Given the description of an element on the screen output the (x, y) to click on. 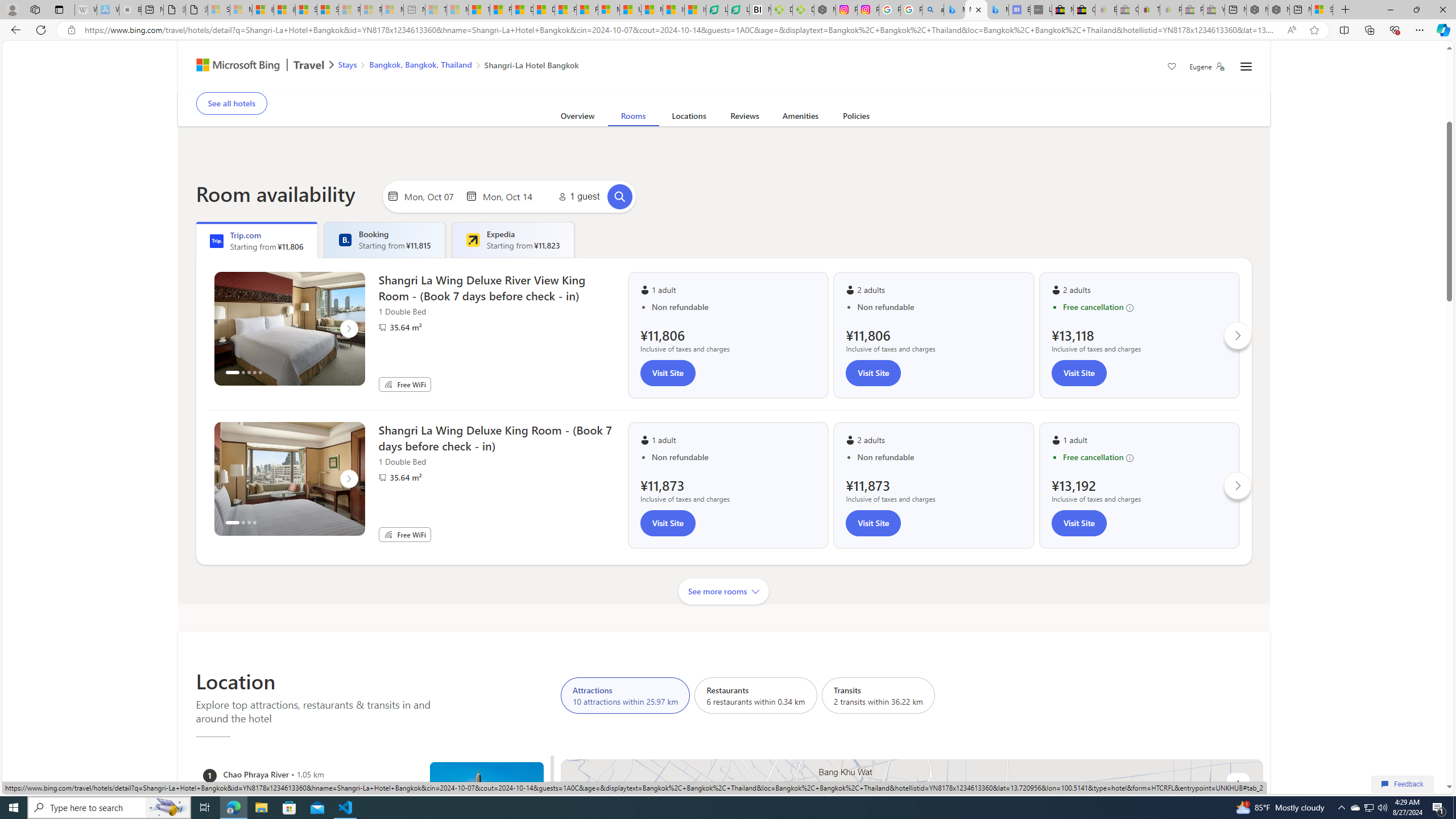
Microsoft Bing Travel (253, 65)
Rooms (633, 118)
1 guest (577, 196)
Sign in to your Microsoft account (1322, 9)
Stays (346, 64)
Threats and offensive language policy | eBay (1149, 9)
Amenities (800, 118)
US Heat Deaths Soared To Record High Last Year (630, 9)
